Given the description of an element on the screen output the (x, y) to click on. 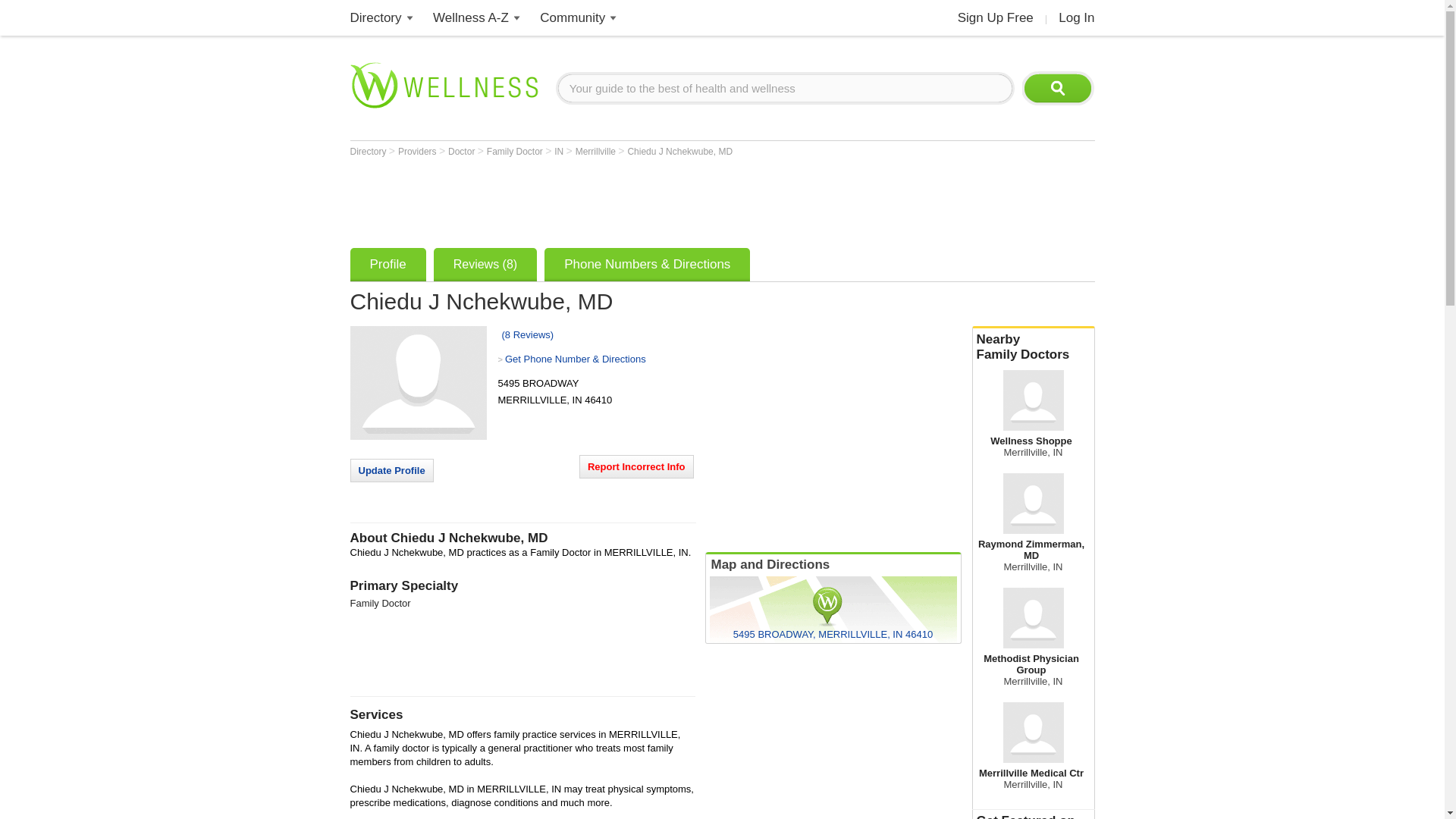
Directory (375, 17)
Wellness Directory (375, 17)
Your guide to the best of health and wellness (785, 88)
Your guide to the best of health and wellness (785, 88)
